Given the description of an element on the screen output the (x, y) to click on. 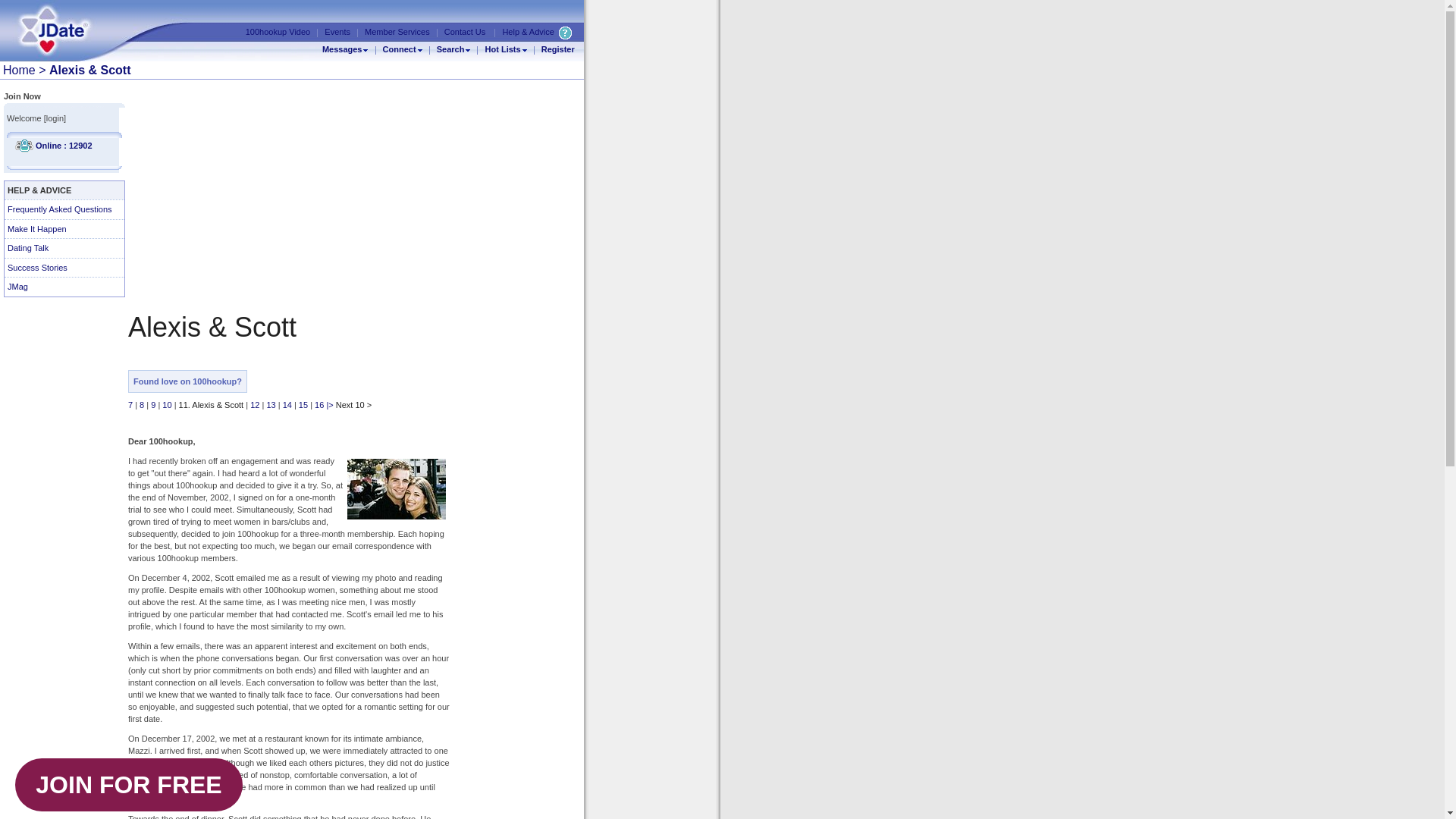
Email a dating consultant (464, 31)
Home (18, 69)
Manage your membership (397, 31)
JOIN FOR FREE (128, 784)
JMag (63, 286)
FAQ's (565, 32)
Member Services (397, 31)
10 (166, 404)
Contact Us (464, 31)
Your Messages (341, 49)
